Given the description of an element on the screen output the (x, y) to click on. 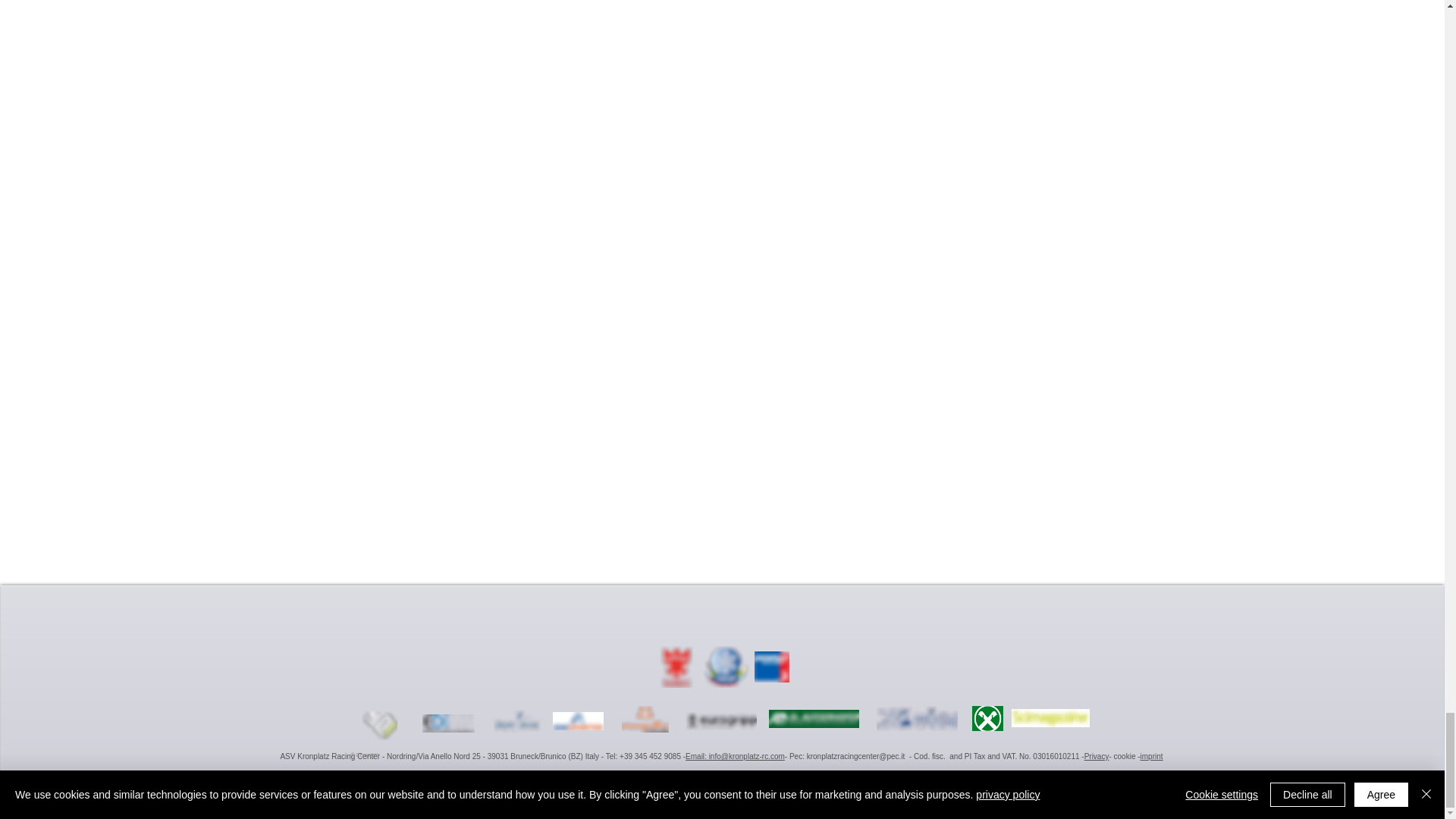
Onesporter.png (576, 720)
Privacy (1096, 756)
cbd3e245-2b67-481a-970f-bba293af59d7.jpg (1050, 718)
imprint (1151, 756)
viar logo.png (917, 718)
